Given the description of an element on the screen output the (x, y) to click on. 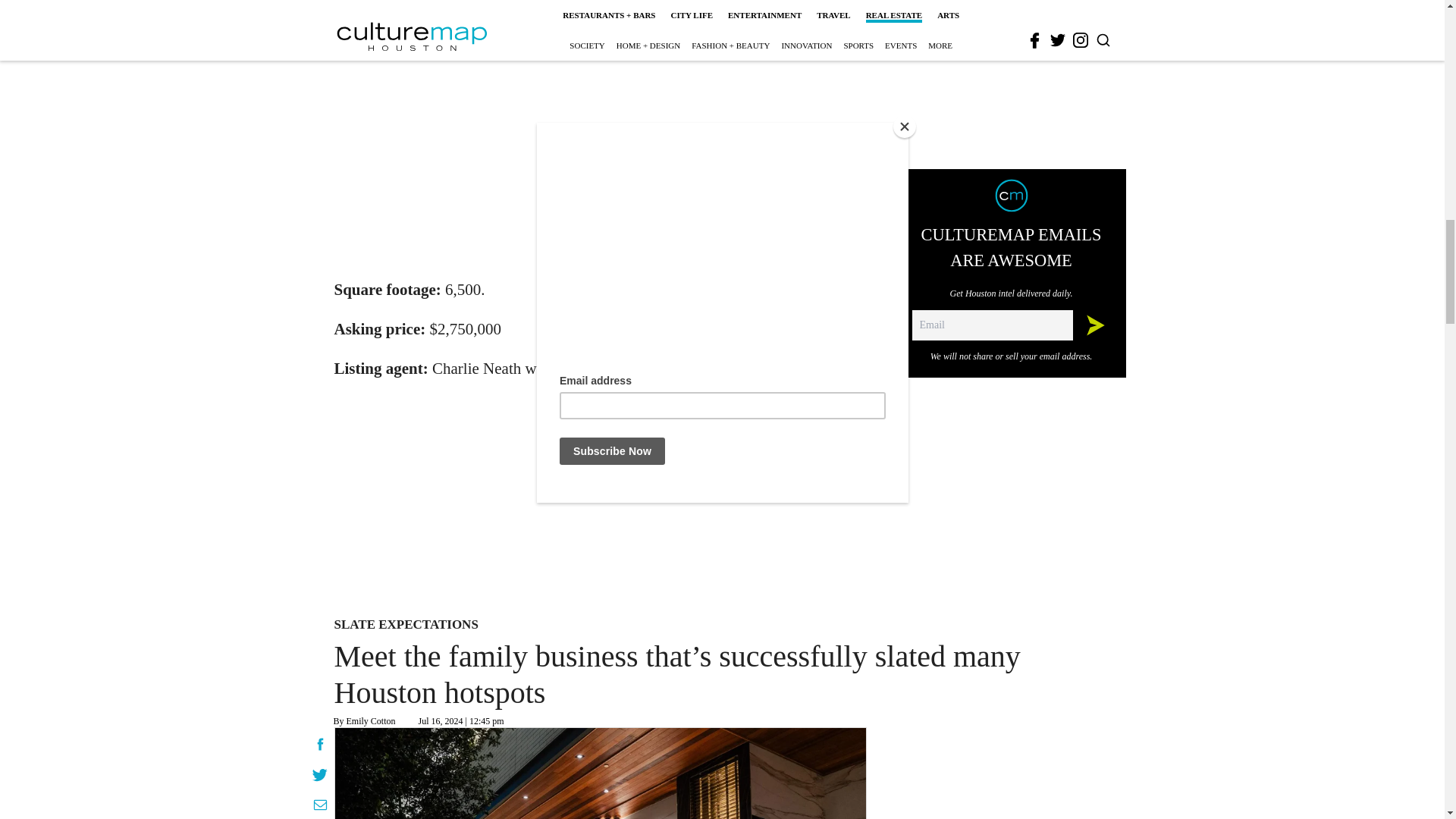
3rd party ad content (702, 500)
3rd party ad content (600, 166)
3rd party ad content (1011, 773)
